Given the description of an element on the screen output the (x, y) to click on. 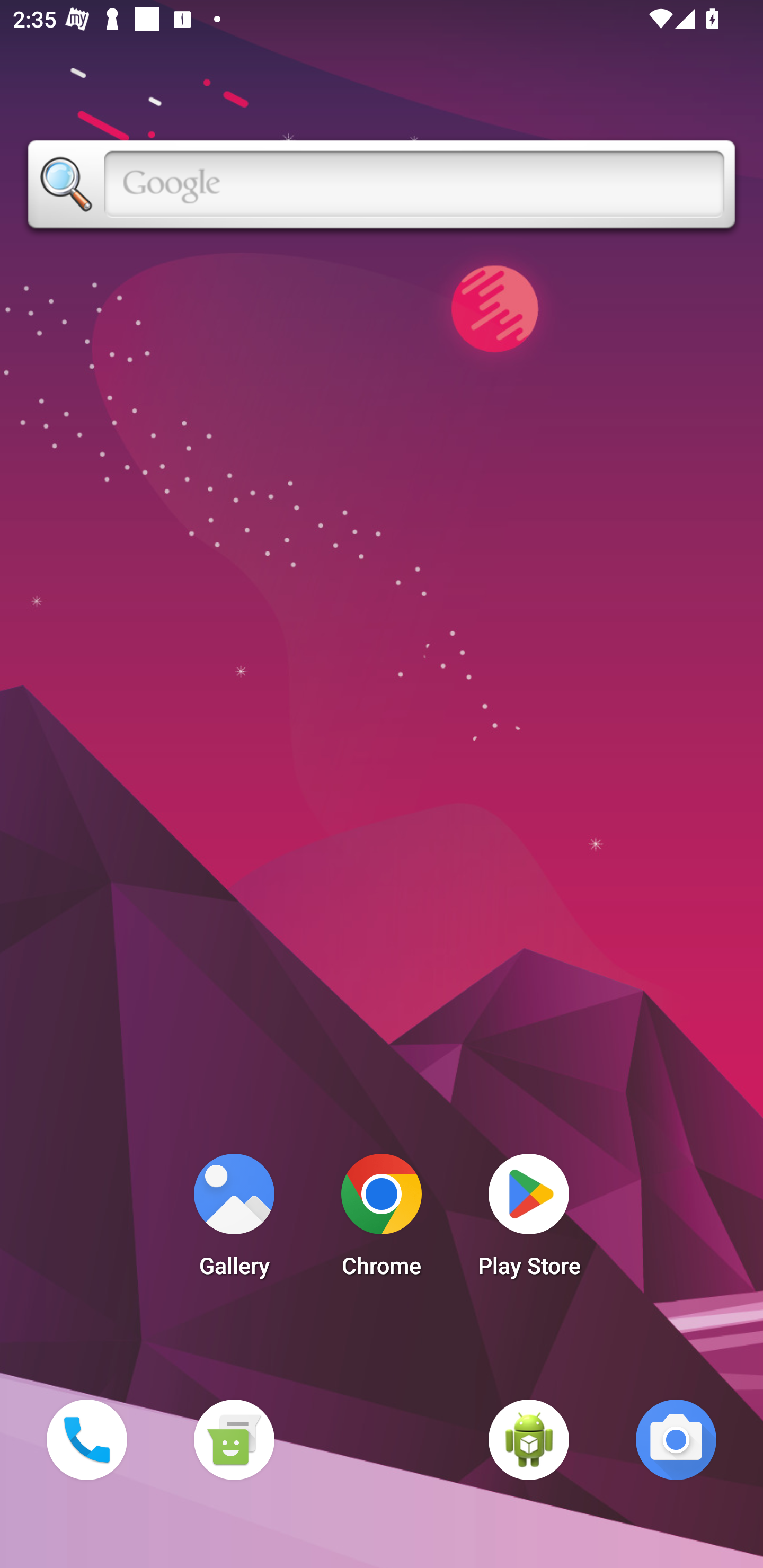
Gallery (233, 1220)
Chrome (381, 1220)
Play Store (528, 1220)
Phone (86, 1439)
Messaging (233, 1439)
WebView Browser Tester (528, 1439)
Camera (676, 1439)
